Given the description of an element on the screen output the (x, y) to click on. 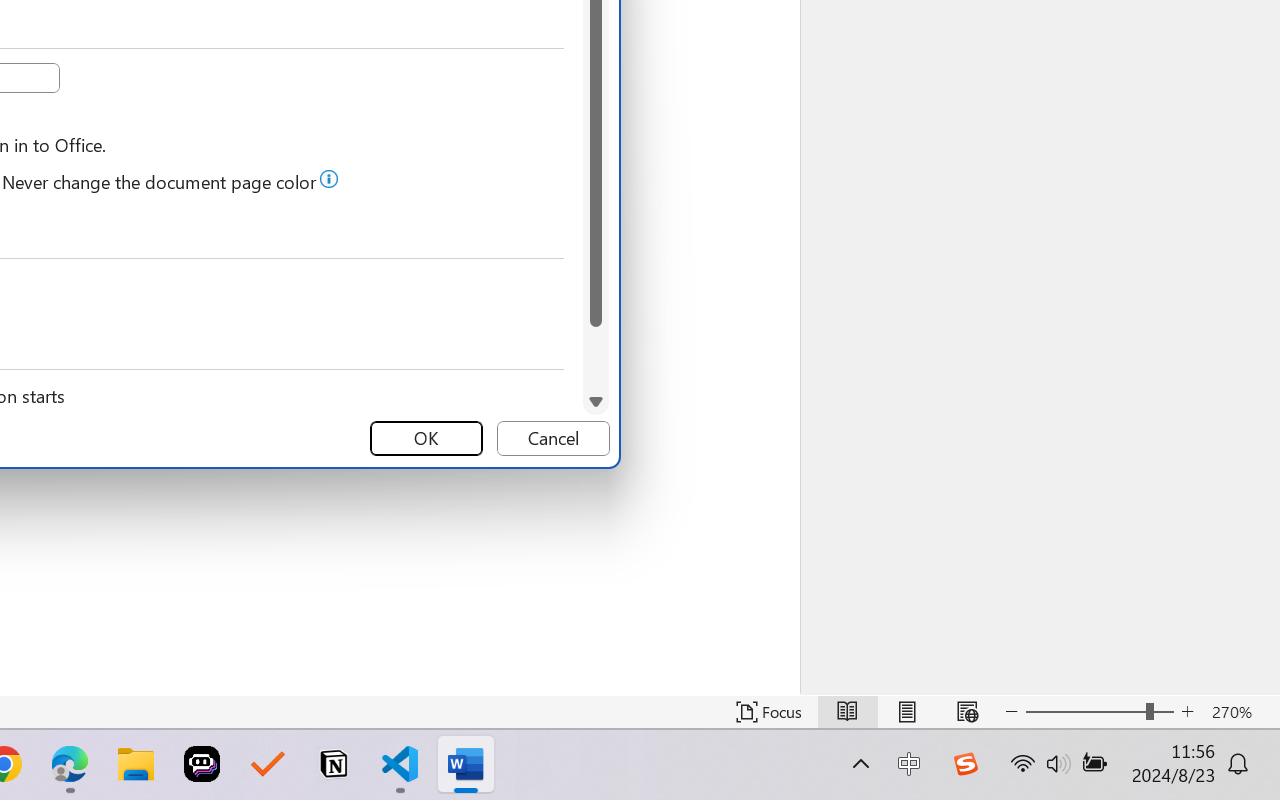
OK (425, 437)
Cancel (553, 437)
Decrease Text Size (1011, 712)
